Given the description of an element on the screen output the (x, y) to click on. 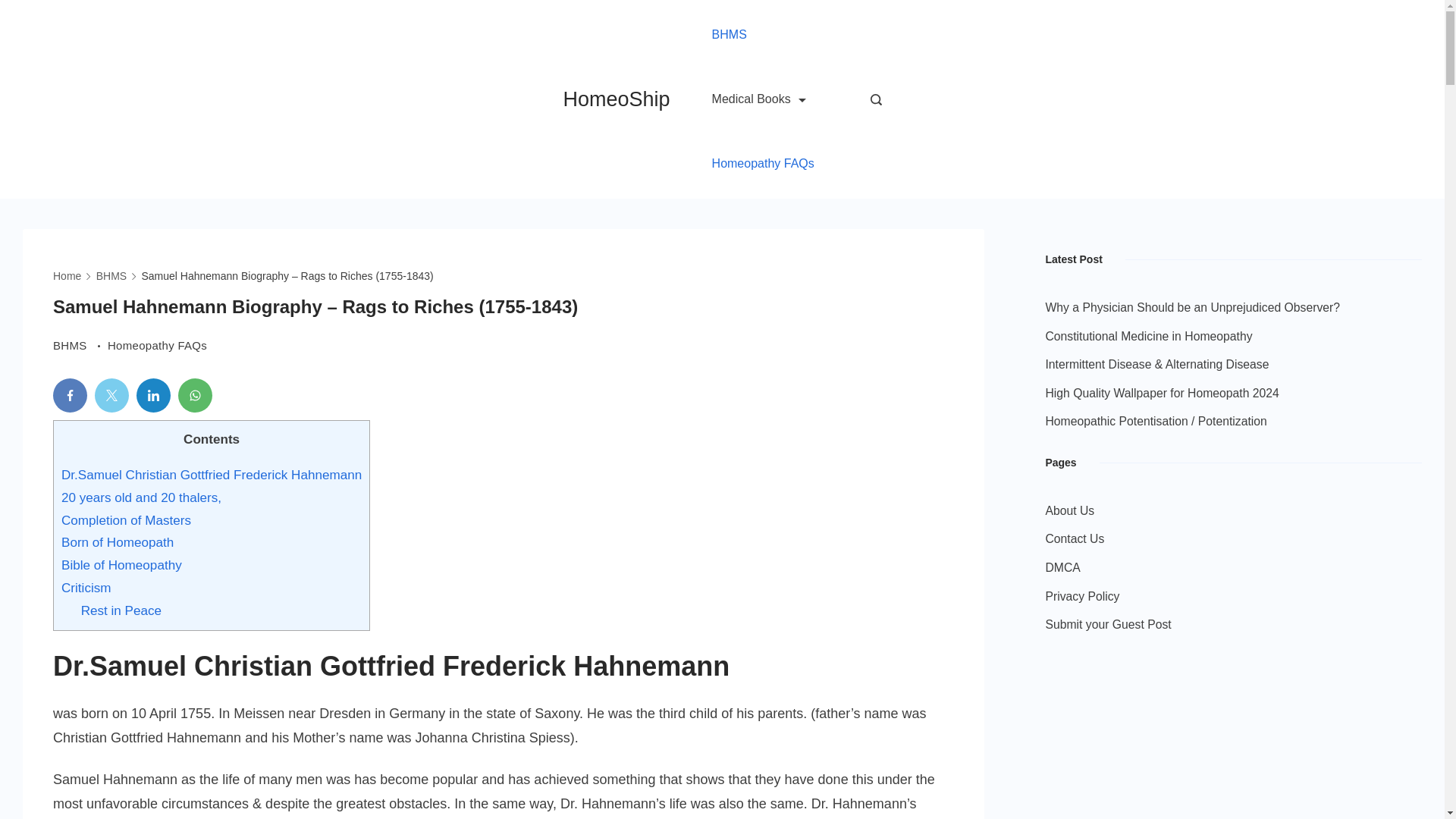
BHMS (79, 344)
Dr.Samuel Christian Gottfried Frederick Hahnemann (211, 474)
Criticism (86, 587)
Home (66, 275)
20 years old and 20 thalers, (141, 497)
Born of Homeopath (117, 542)
Homeopathy FAQs (156, 344)
Homeopathy FAQs (762, 163)
Completion of Masters (125, 520)
Rest in Peace (121, 610)
Medical Books (758, 99)
BHMS (111, 275)
Bible of Homeopathy (121, 564)
HomeoShip (615, 98)
